Given the description of an element on the screen output the (x, y) to click on. 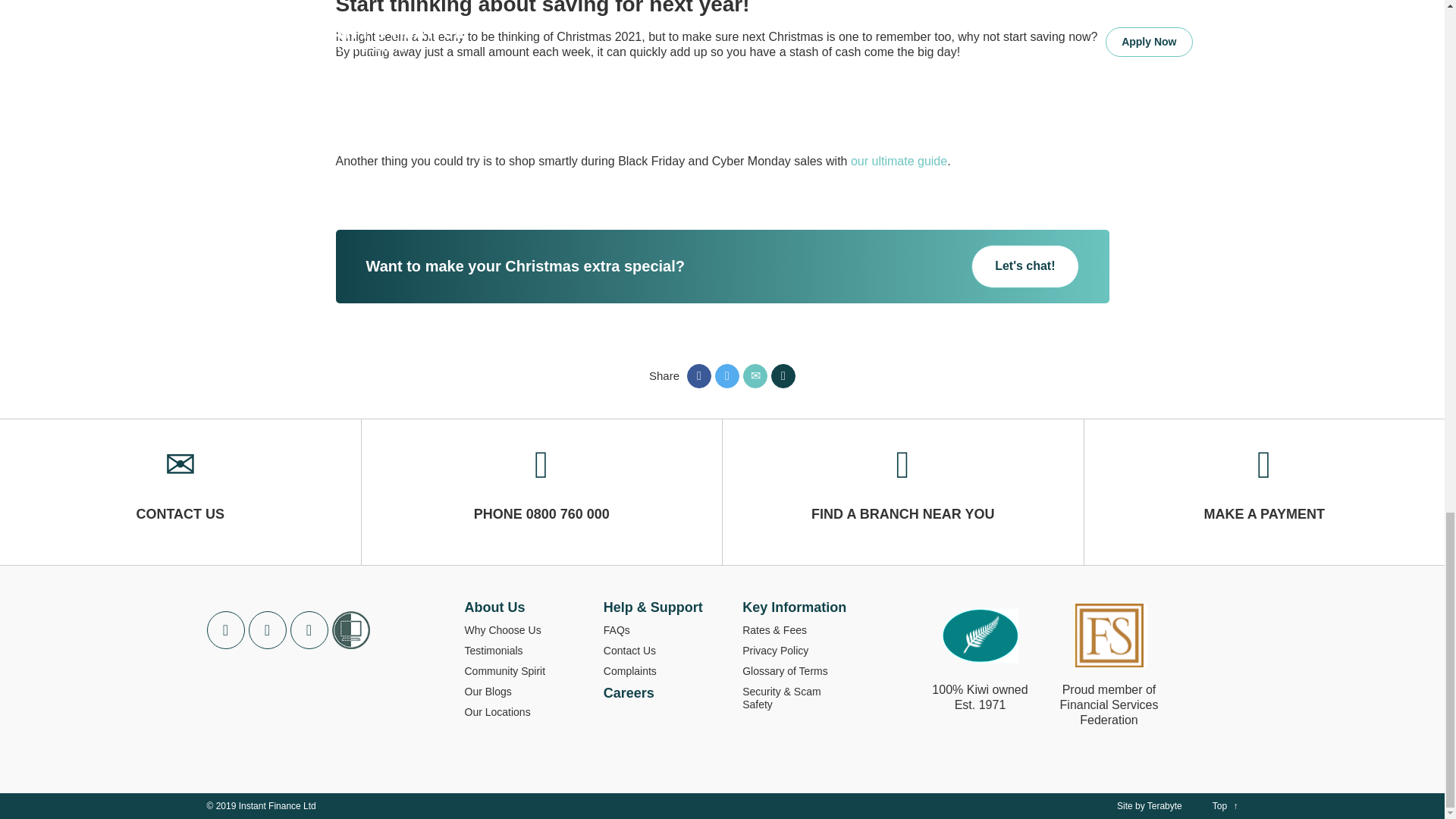
Share on Facebook (699, 375)
LinkedIn (267, 629)
Send to a Friend (754, 375)
Print this page (782, 375)
Follow us on Facebook (225, 629)
Shielded site (350, 629)
Follow us on YouTube (308, 629)
Share on Twitter (726, 375)
